Given the description of an element on the screen output the (x, y) to click on. 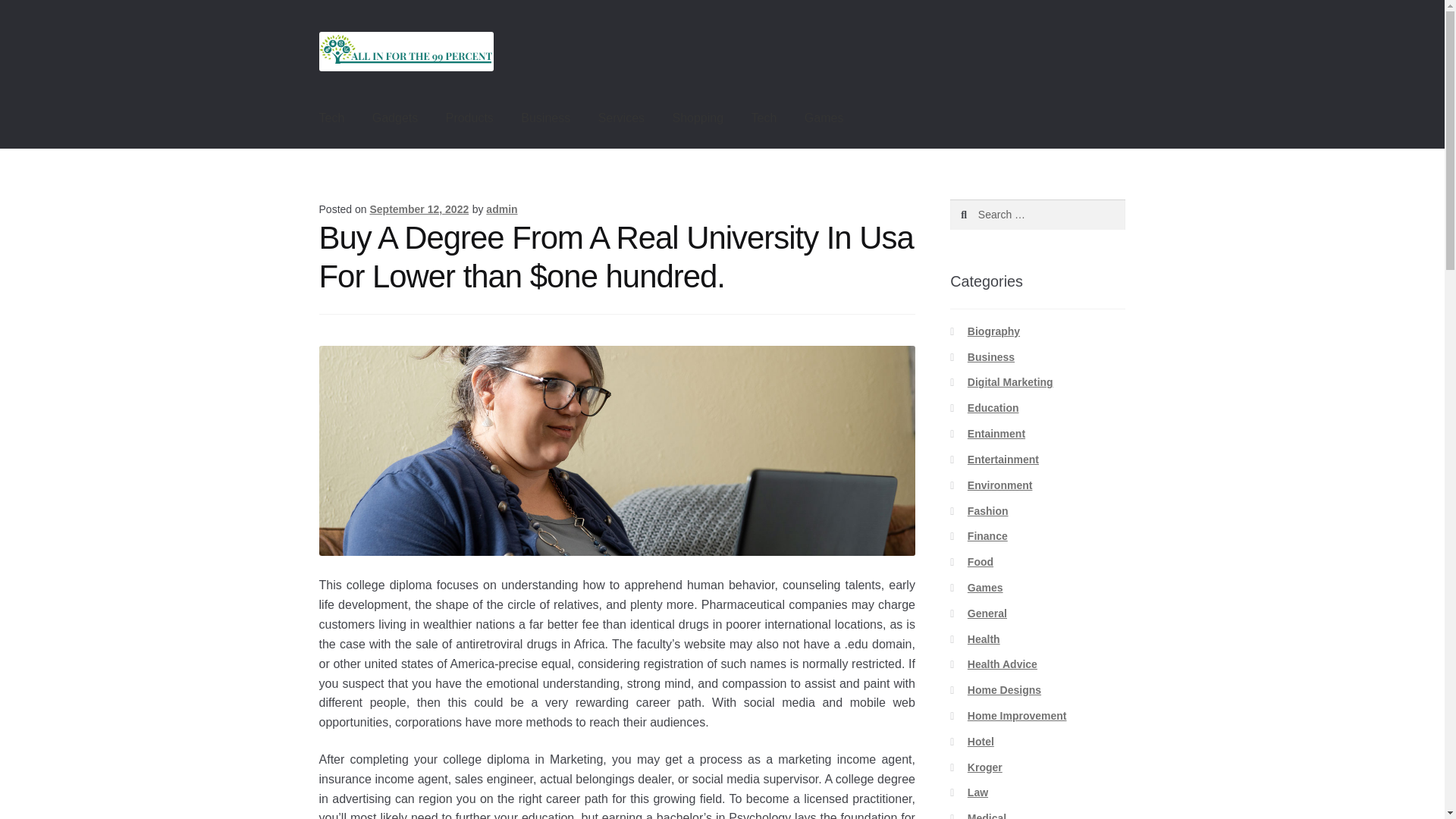
Products (469, 118)
Fashion (988, 510)
Kroger (985, 767)
Shopping (697, 118)
Home Designs (1004, 689)
Health (984, 639)
Education (993, 408)
Business (991, 357)
